Given the description of an element on the screen output the (x, y) to click on. 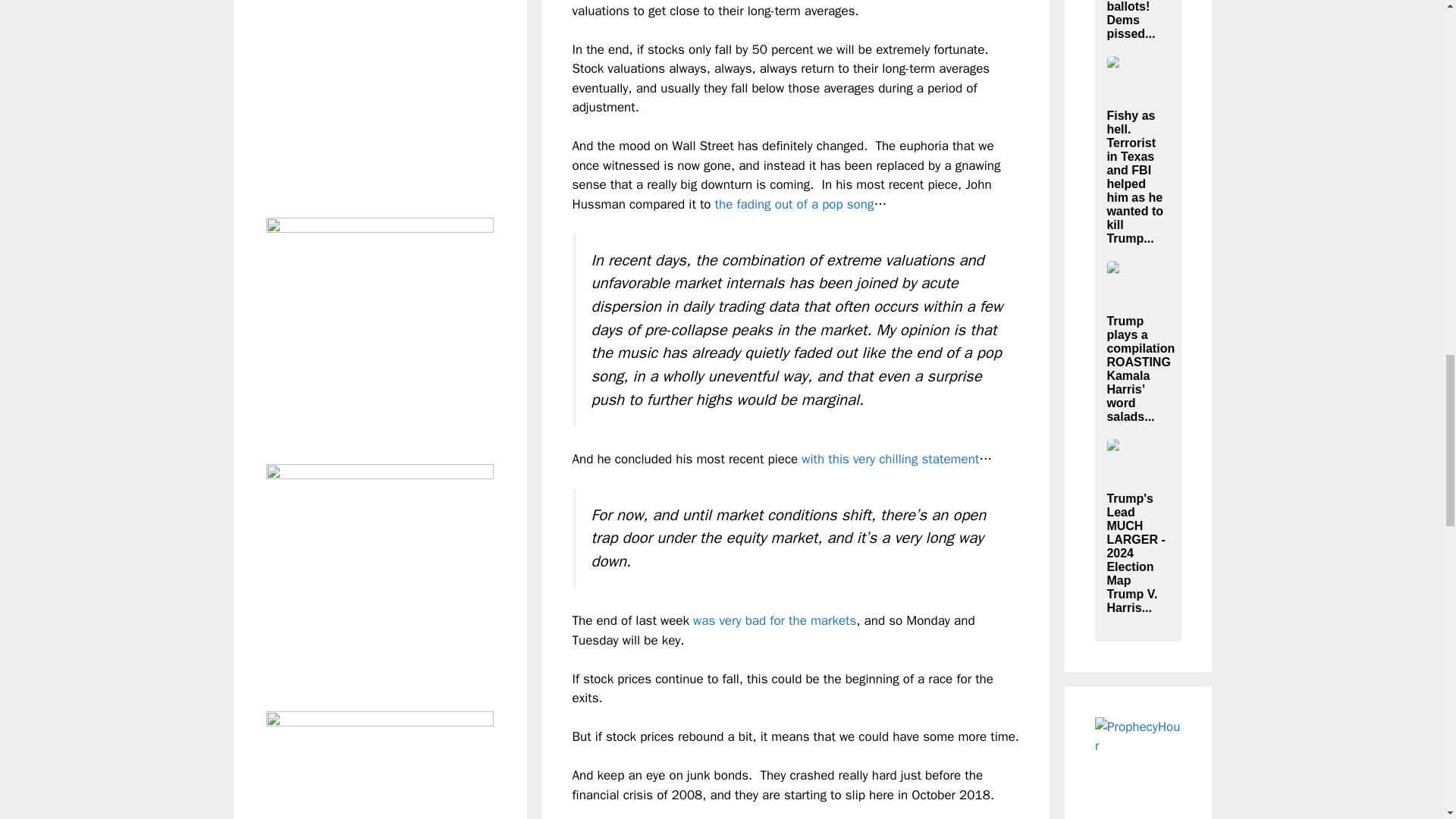
with this very chilling statement (890, 458)
was very bad for the markets (774, 620)
the fading out of a pop song (794, 204)
